Given the description of an element on the screen output the (x, y) to click on. 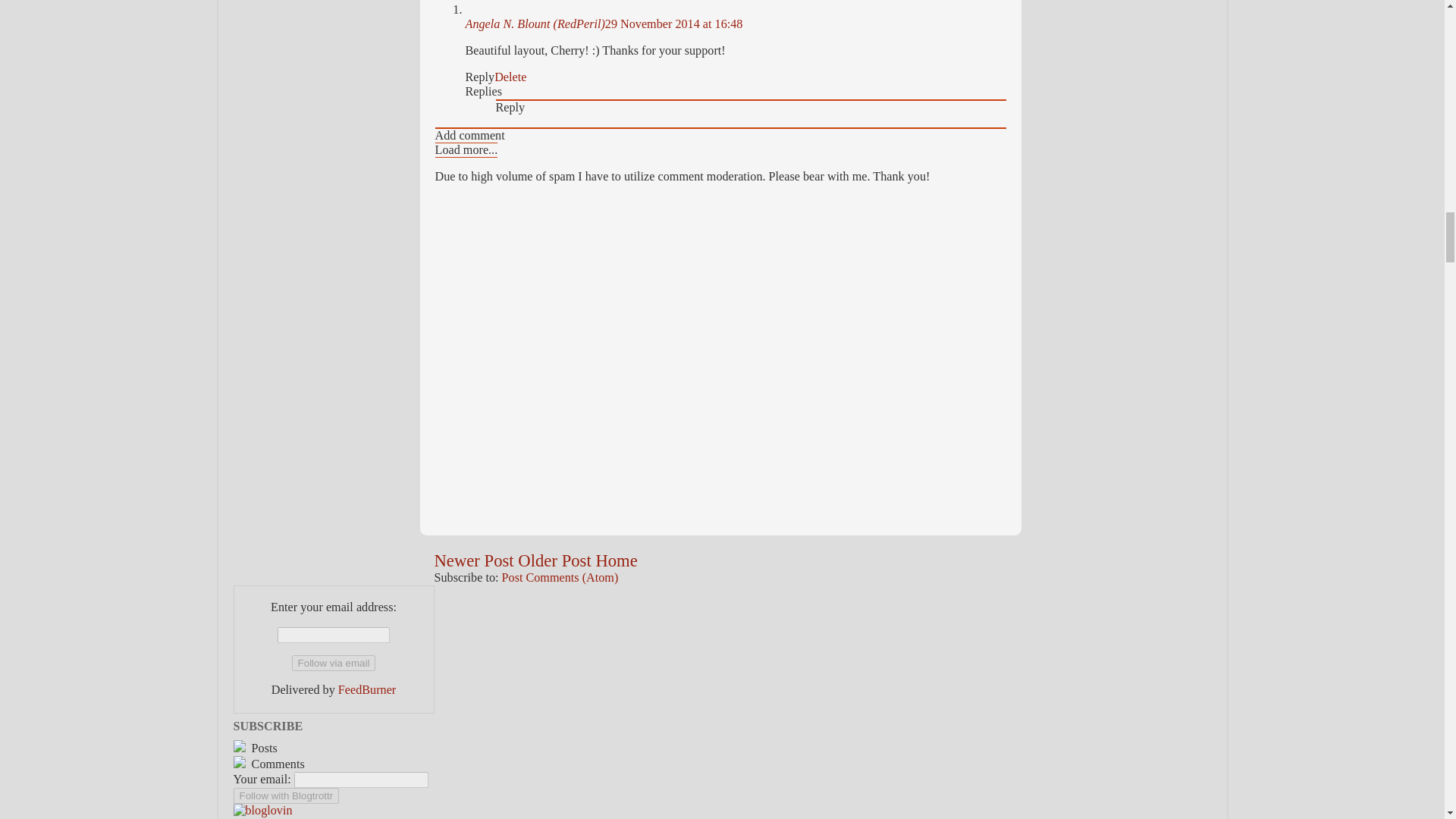
Follow via email (333, 662)
Follow with Blogtrottr (285, 795)
